Given the description of an element on the screen output the (x, y) to click on. 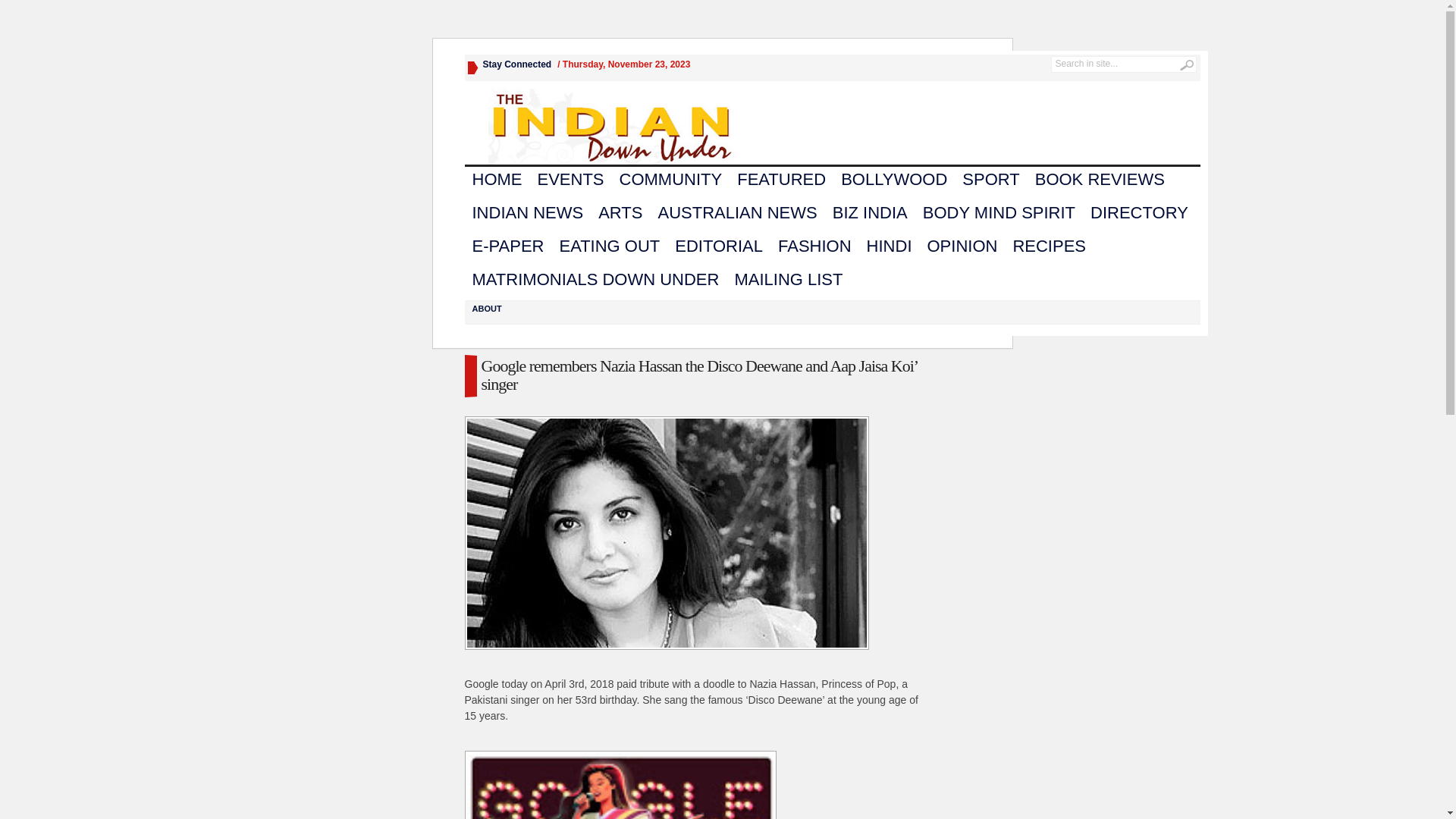
INDIAN NEWS Element type: text (527, 212)
ABOUT Element type: text (486, 308)
BOLLYWOOD Element type: text (893, 179)
FASHION Element type: text (814, 246)
EDITORIAL Element type: text (718, 246)
COMMUNITY Element type: text (670, 179)
BODY MIND SPIRIT Element type: text (998, 212)
BIZ INDIA Element type: text (870, 212)
AUSTRALIAN NEWS Element type: text (736, 212)
MAILING LIST Element type: text (788, 279)
BOOK REVIEWS Element type: text (1099, 179)
EVENTS Element type: text (570, 179)
EATING OUT Element type: text (609, 246)
MATRIMONIALS DOWN UNDER Element type: text (595, 279)
ARTS Element type: text (619, 212)
Stay Connected Element type: text (516, 64)
OPINION Element type: text (961, 246)
HOME Element type: text (496, 179)
HINDI Element type: text (889, 246)
E-PAPER Element type: text (507, 246)
SPORT Element type: text (990, 179)
DIRECTORY Element type: text (1138, 212)
FEATURED Element type: text (781, 179)
RECIPES Element type: text (1048, 246)
